Given the description of an element on the screen output the (x, y) to click on. 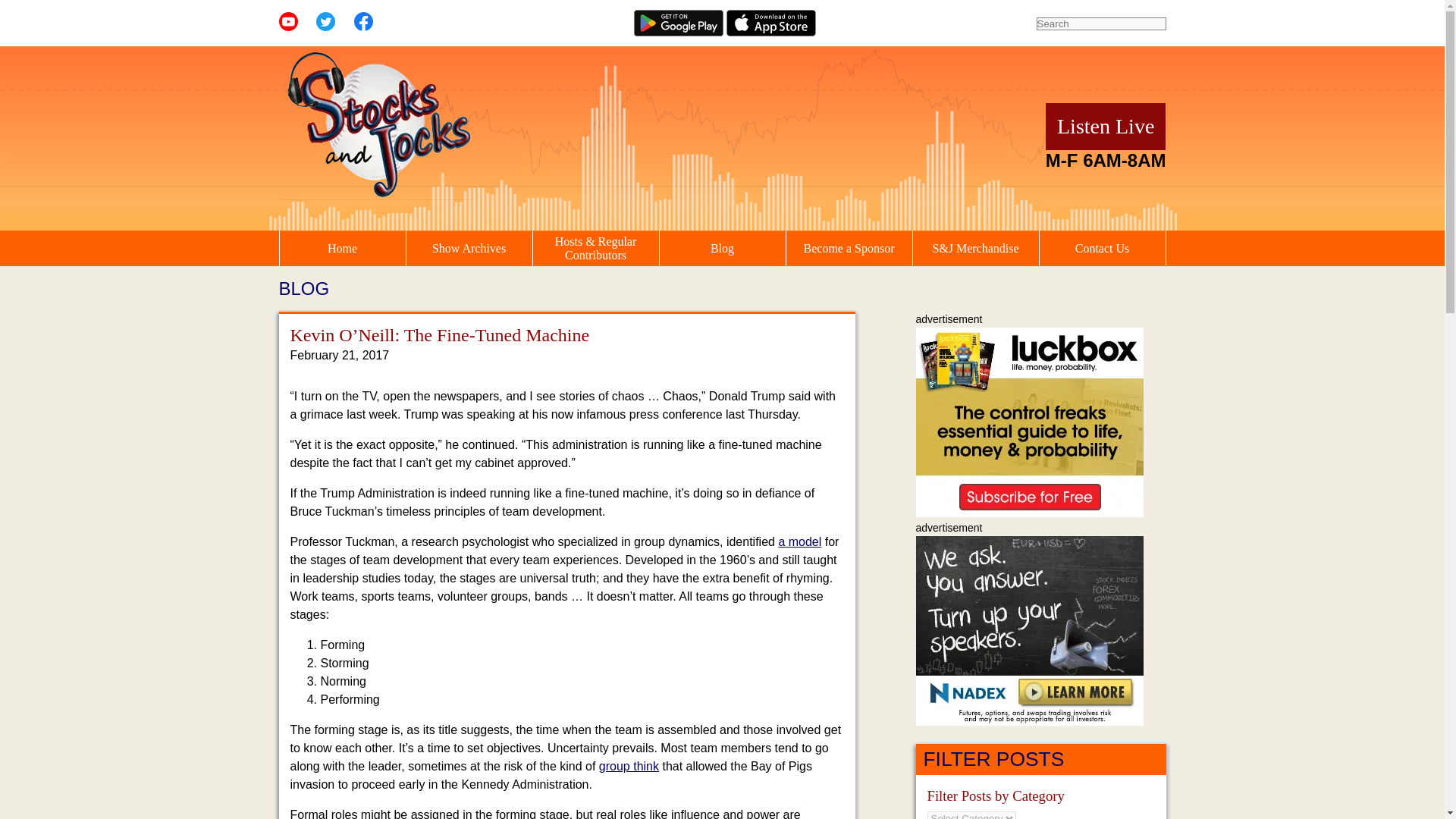
group think (628, 766)
Show Archives (469, 248)
Blog (722, 248)
a model (799, 541)
Listen Live (1105, 126)
Home (341, 248)
Become a Sponsor (848, 248)
Contact Us (1101, 248)
